Given the description of an element on the screen output the (x, y) to click on. 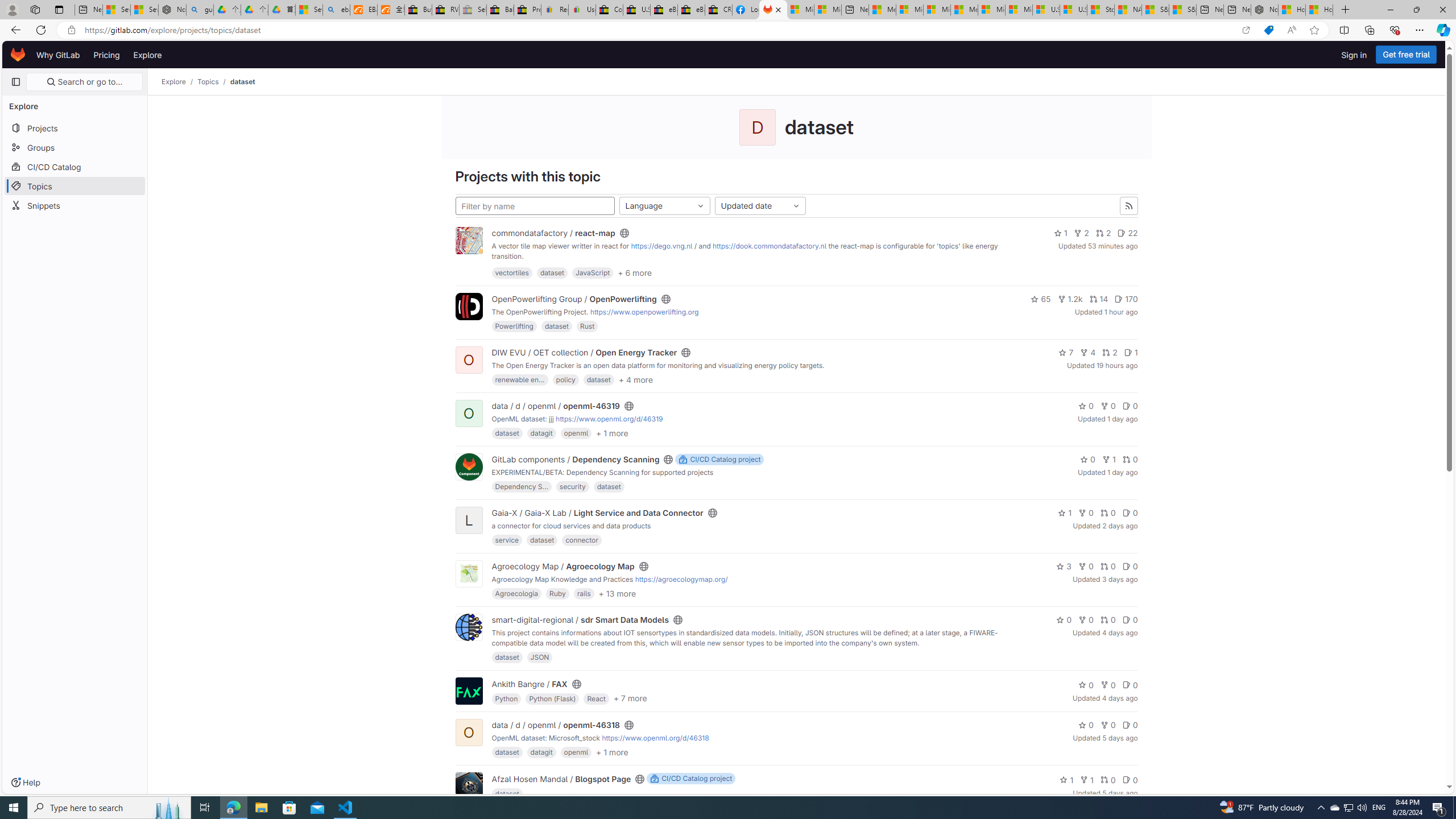
Agroecology Map / Agroecology Map (563, 566)
0 (1130, 779)
Primary navigation sidebar (15, 81)
CI/CD Catalog project (690, 778)
Updated date (760, 205)
New Tab (1346, 9)
